Given the description of an element on the screen output the (x, y) to click on. 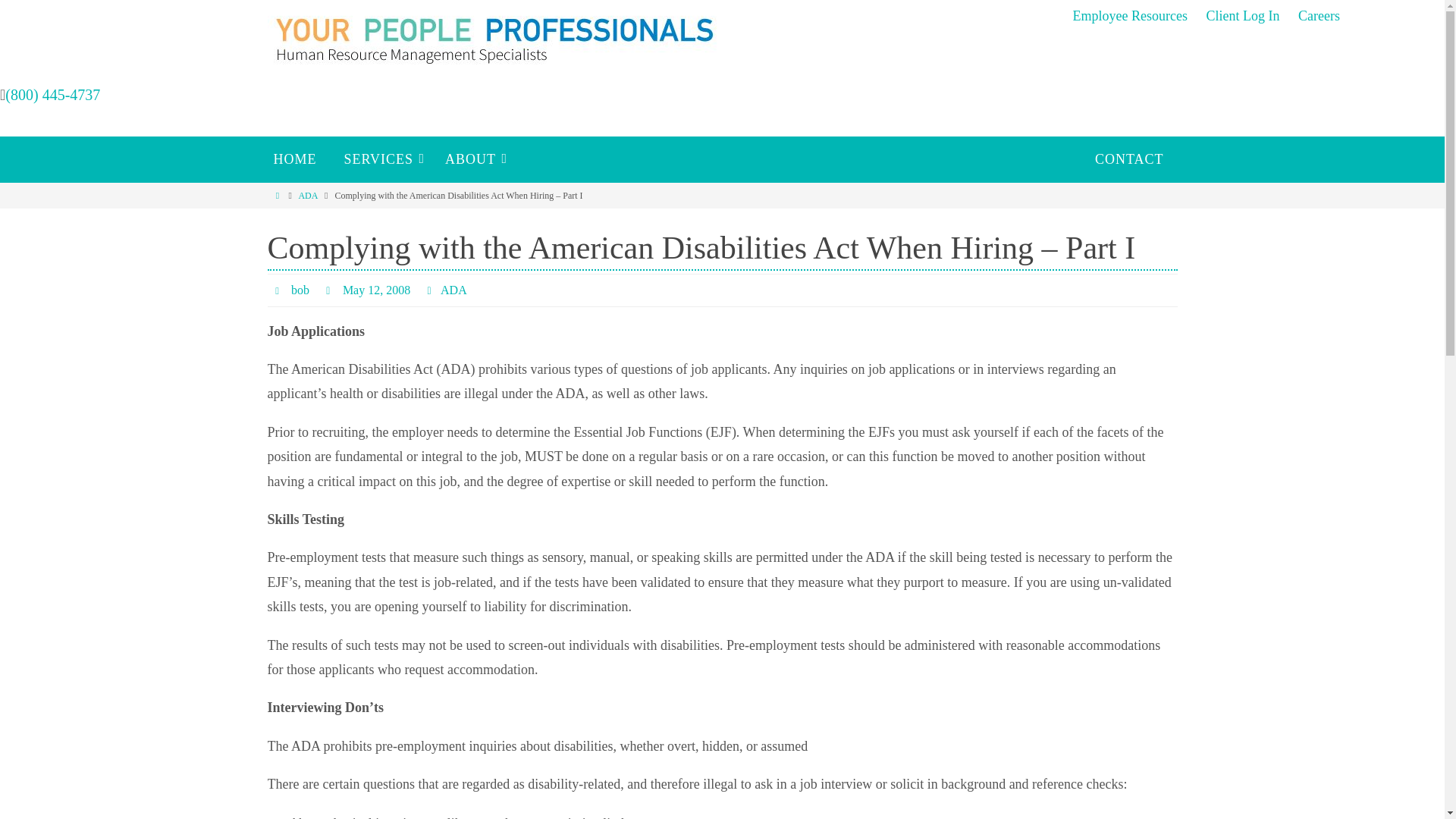
CONTACT (1129, 159)
ADA (454, 290)
ADA (307, 195)
May 12, 2008 (376, 290)
ABOUT (471, 159)
Author  (278, 289)
Client Log In (1242, 16)
Employee Resources (1128, 16)
Date (329, 289)
Careers (1318, 16)
